Given the description of an element on the screen output the (x, y) to click on. 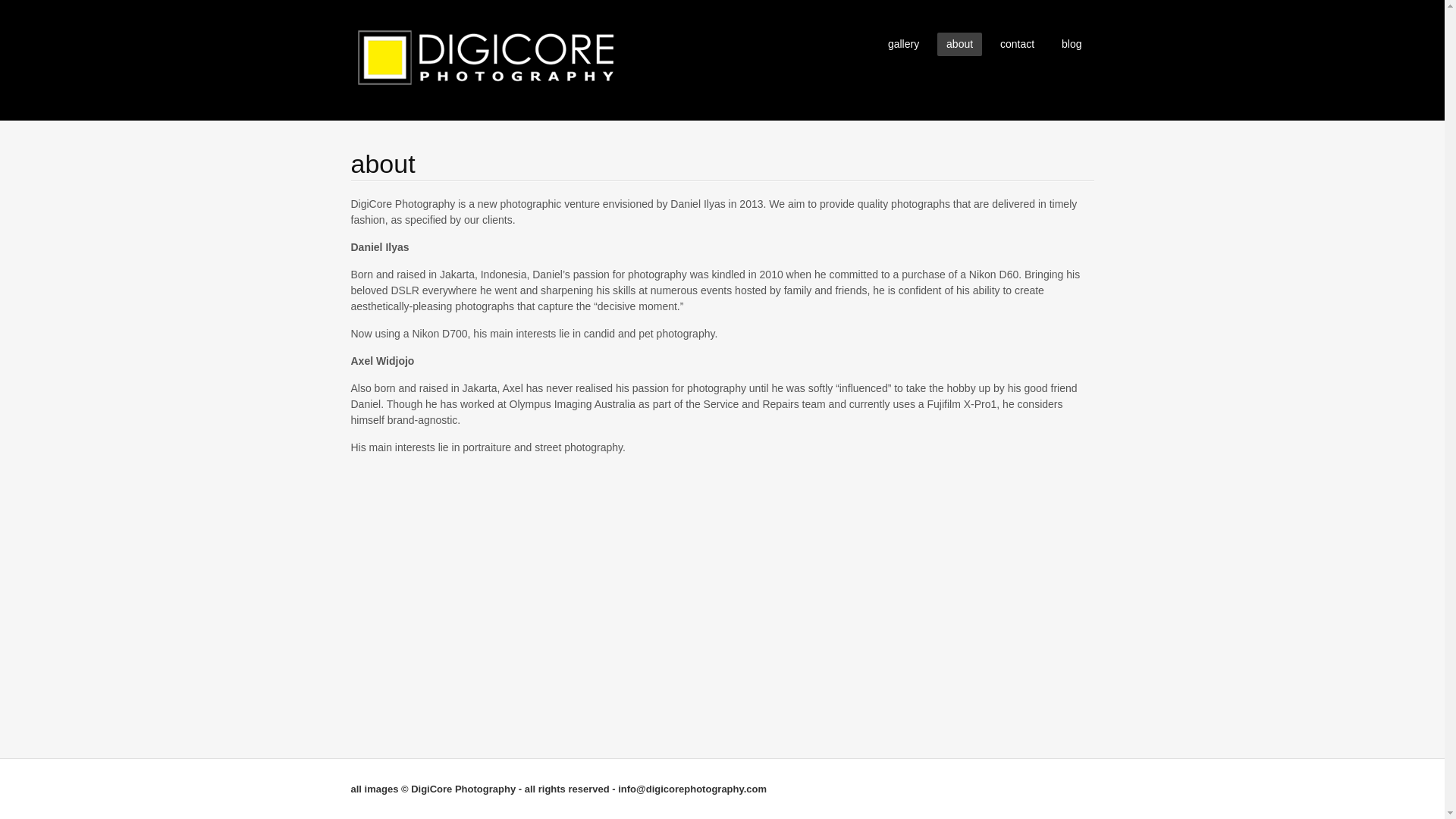
gallery (903, 44)
blog (1071, 44)
contact (1017, 44)
about (959, 44)
Skip to content (887, 36)
